Given the description of an element on the screen output the (x, y) to click on. 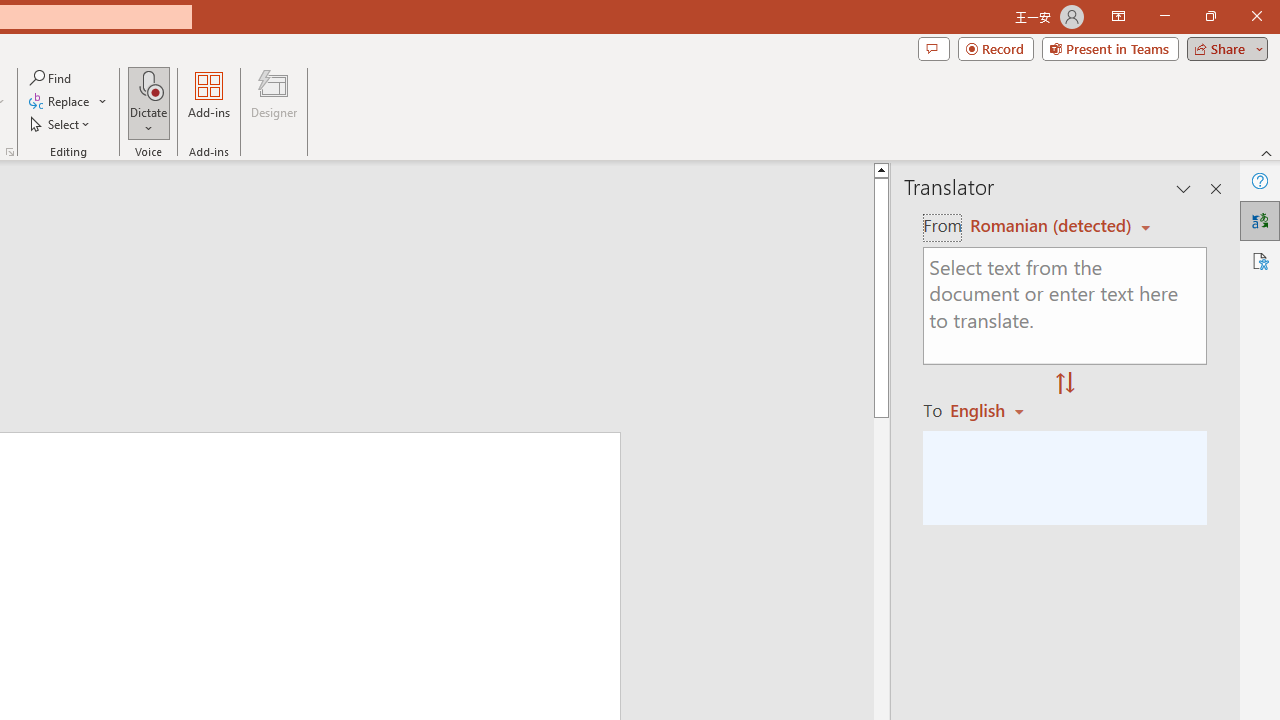
Romanian (994, 409)
